Given the description of an element on the screen output the (x, y) to click on. 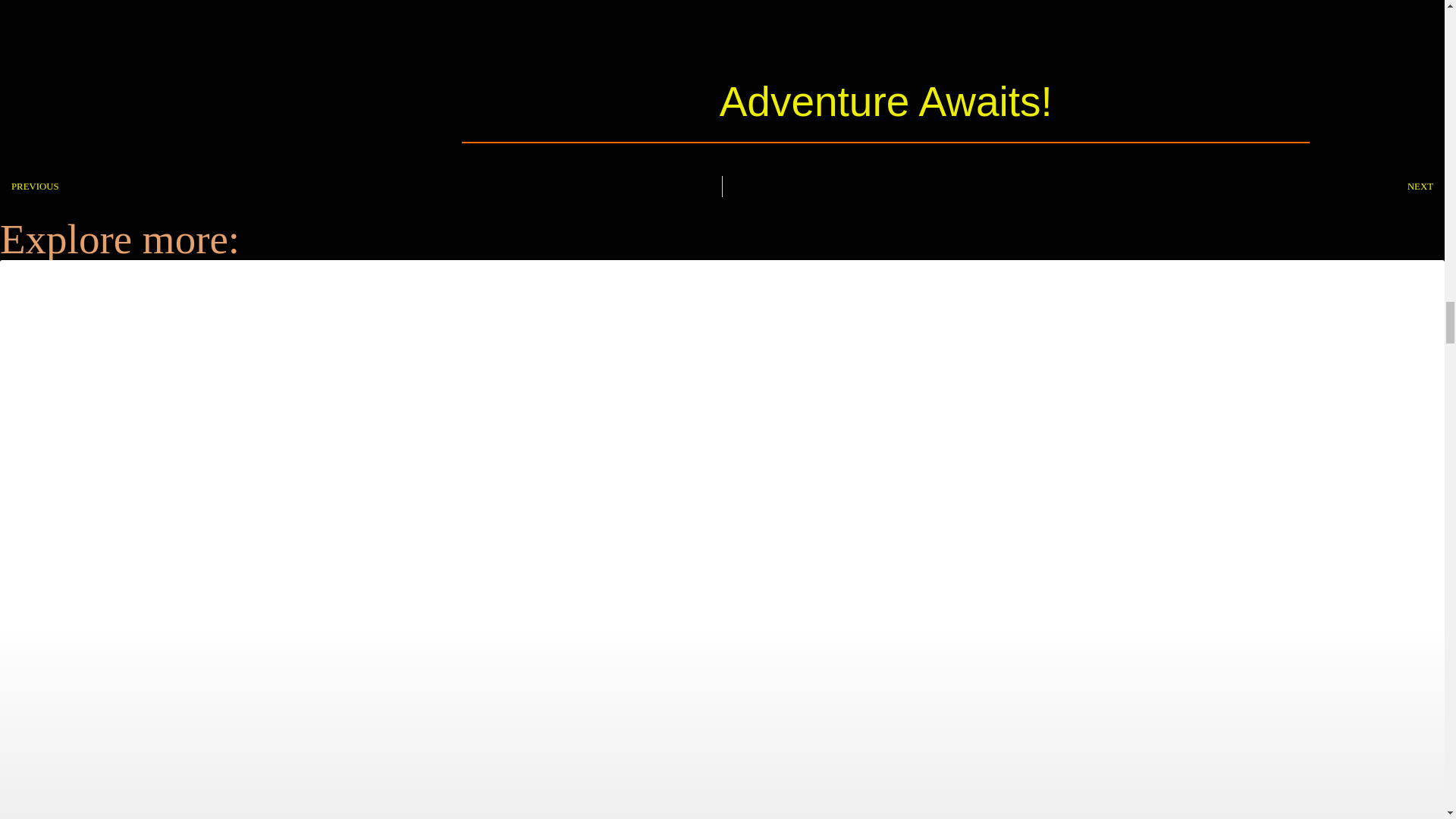
PREVIOUS (361, 186)
